Given the description of an element on the screen output the (x, y) to click on. 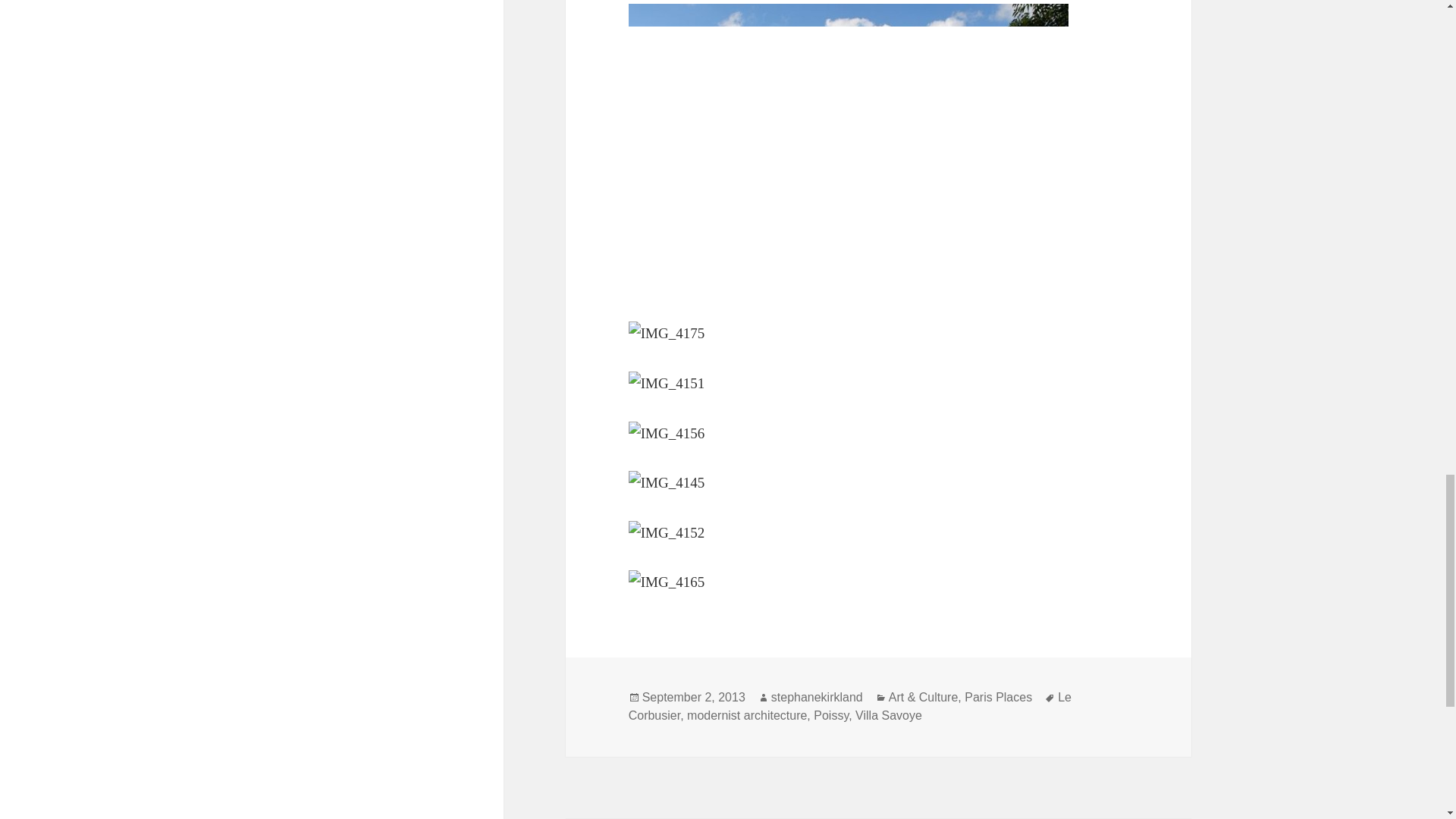
Villa Savoye (888, 715)
stephanekirkland (817, 697)
Poissy (830, 715)
September 2, 2013 (693, 697)
Le Corbusier (849, 706)
Paris Places (997, 697)
modernist architecture (746, 715)
